Given the description of an element on the screen output the (x, y) to click on. 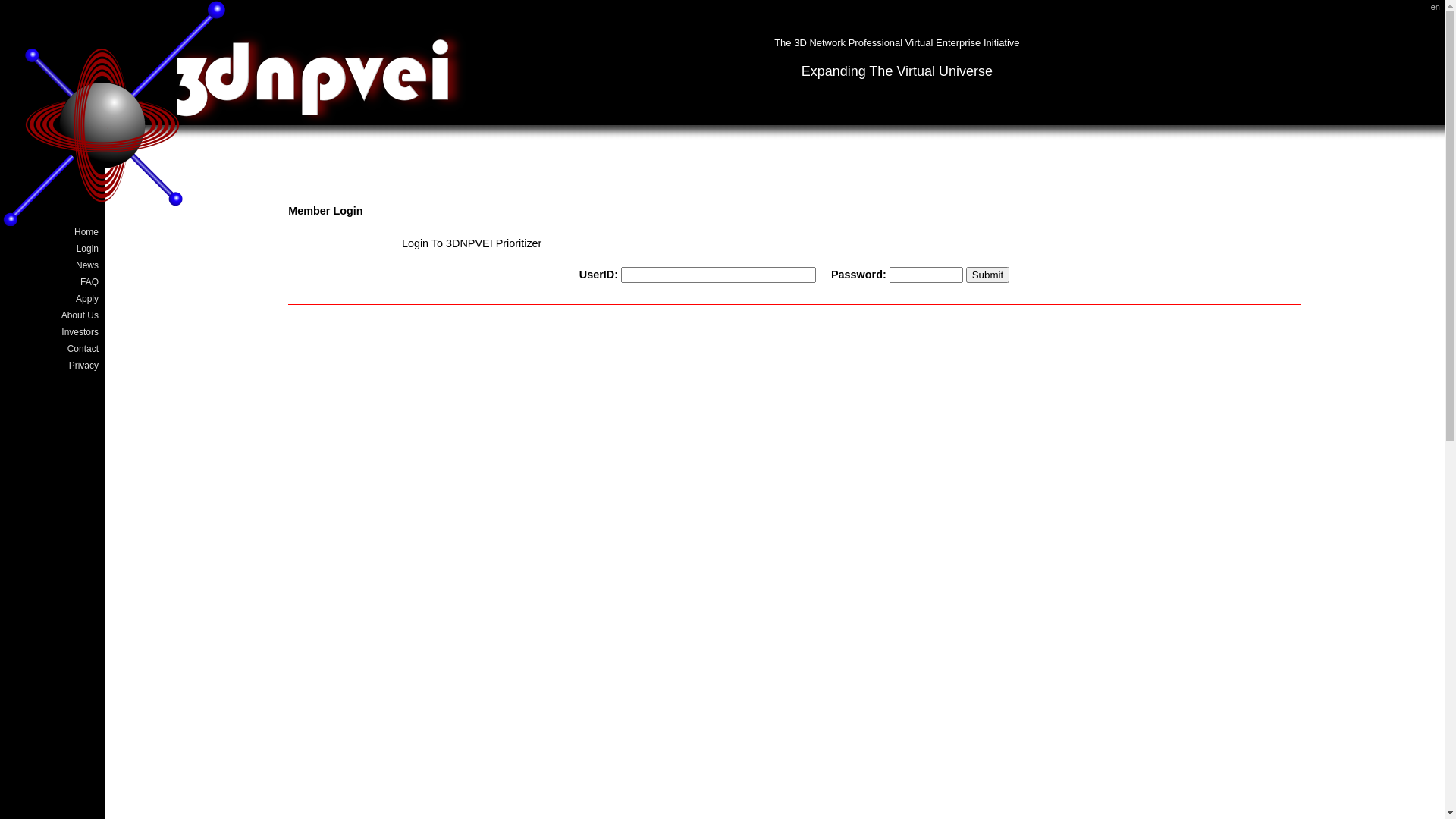
FAQ Element type: text (52, 281)
About Us Element type: text (52, 315)
Investors Element type: text (52, 331)
News Element type: text (52, 265)
Apply Element type: text (52, 298)
Home Element type: text (52, 231)
Submit Element type: text (987, 274)
Privacy Element type: text (52, 365)
Contact Element type: text (52, 348)
Login Element type: text (52, 248)
